Given the description of an element on the screen output the (x, y) to click on. 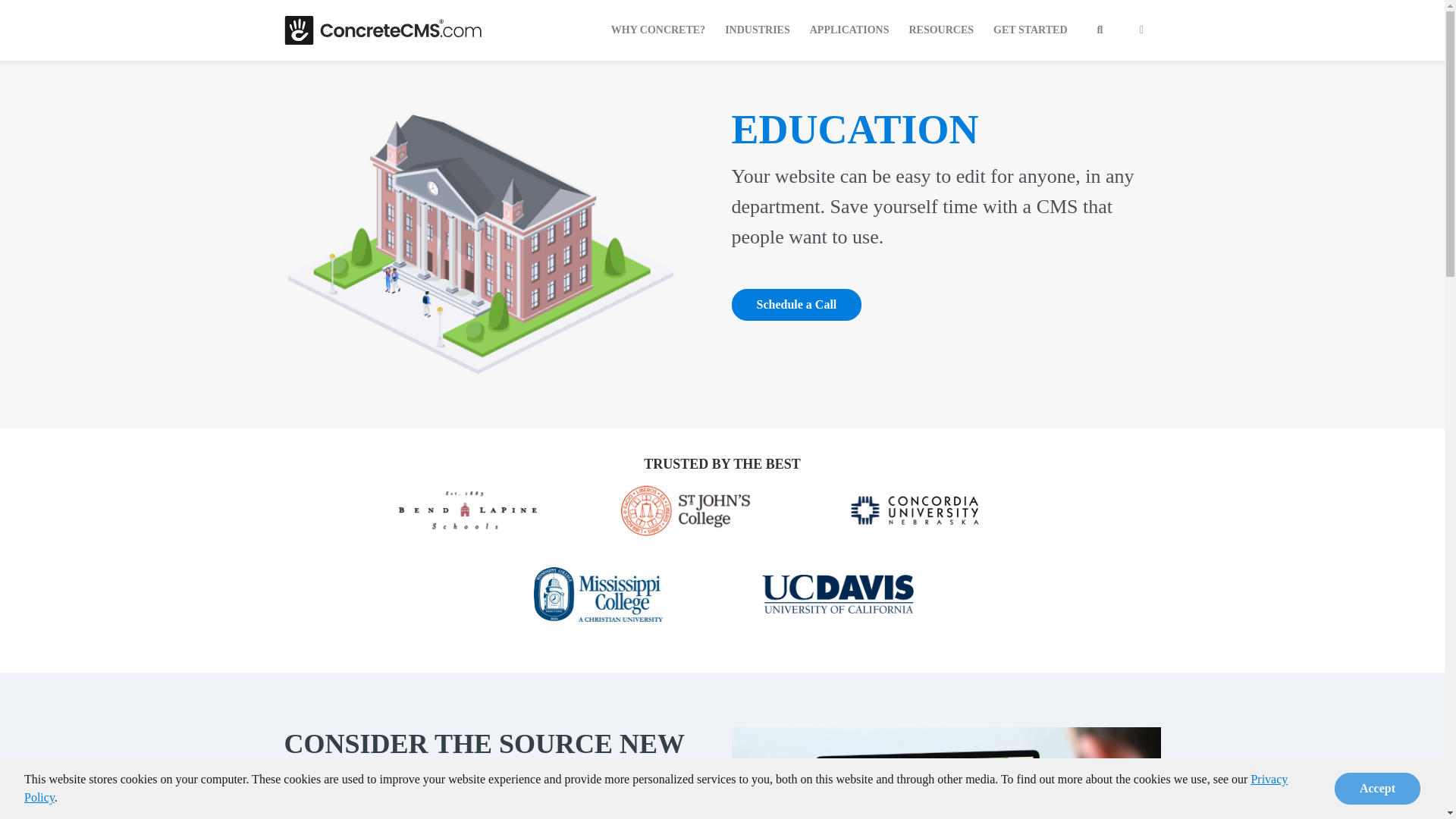
Search (1100, 30)
GET STARTED (1030, 30)
WHY CONCRETE? (658, 30)
RESOURCES (940, 30)
Consider The Source New York (945, 773)
APPLICATIONS (849, 30)
INDUSTRIES (757, 30)
